Given the description of an element on the screen output the (x, y) to click on. 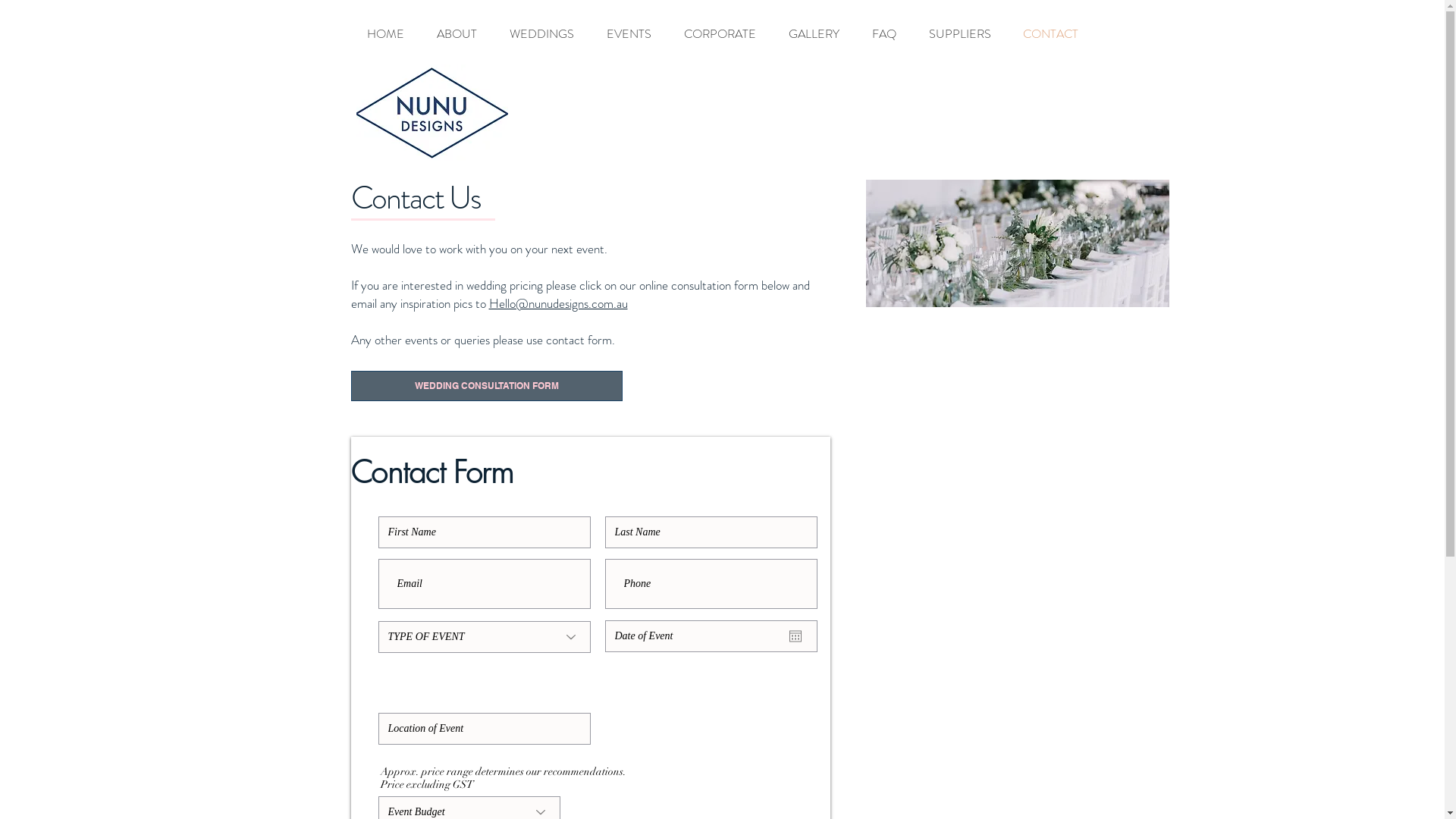
CORPORATE Element type: text (719, 34)
EVENTS Element type: text (628, 34)
HOME Element type: text (385, 34)
GALLERY Element type: text (813, 34)
SUPPLIERS Element type: text (960, 34)
FAQ Element type: text (883, 34)
ABOUT Element type: text (456, 34)
CONTACT Element type: text (1050, 34)
Hello@nunudesigns.com.au Element type: text (557, 303)
WEDDING CONSULTATION FORM Element type: text (485, 385)
WEDDINGS Element type: text (540, 34)
